Given the description of an element on the screen output the (x, y) to click on. 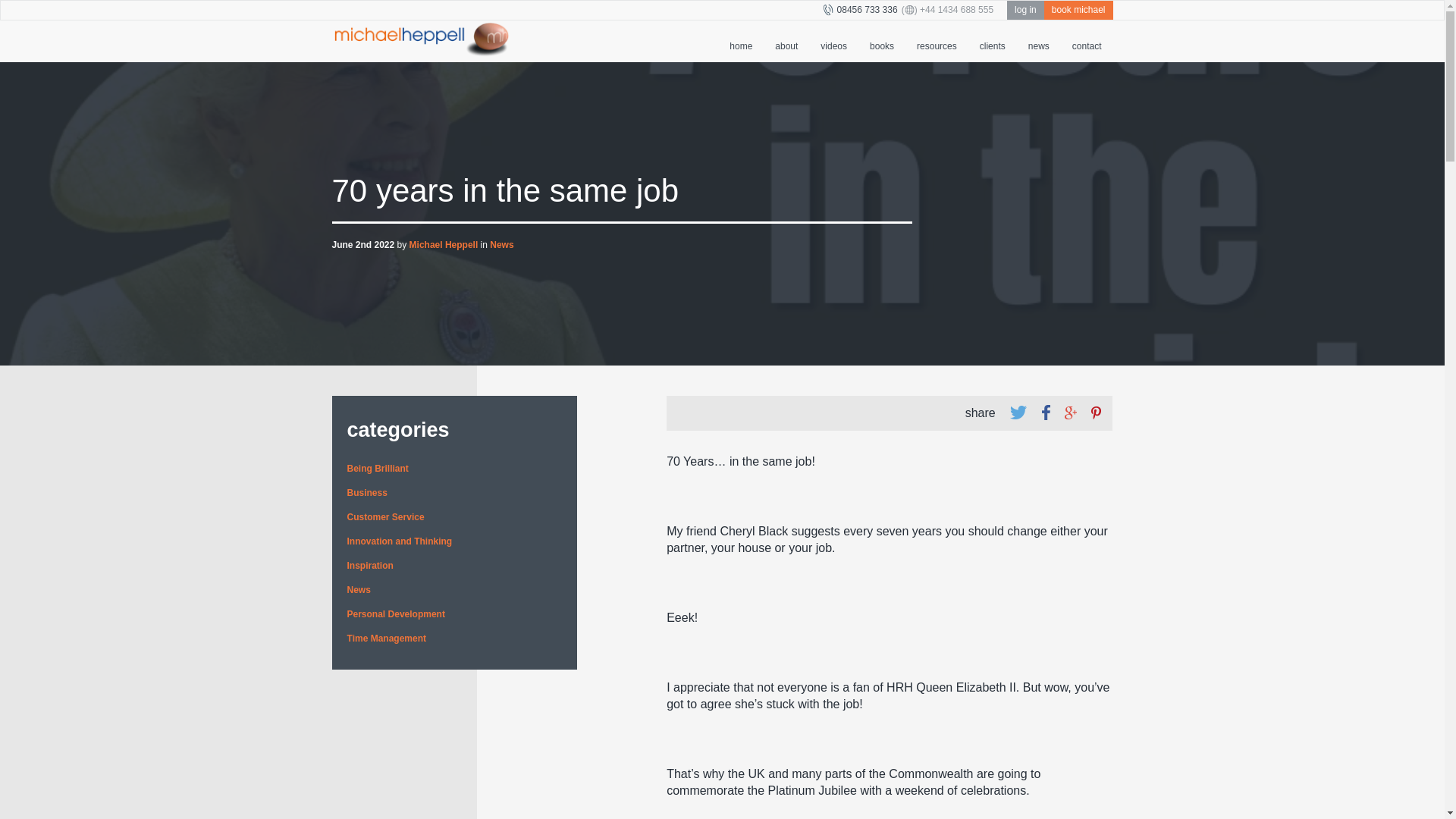
resources (936, 41)
Twitter (1018, 412)
Tweet (1018, 412)
books (882, 41)
log in (1025, 9)
Innovation and Thinking (399, 541)
videos (834, 41)
book michael (1078, 9)
home (739, 41)
contact (1087, 41)
clients (992, 41)
Inspiration (370, 565)
news (1038, 41)
Customer Service (386, 516)
Business (367, 492)
